Given the description of an element on the screen output the (x, y) to click on. 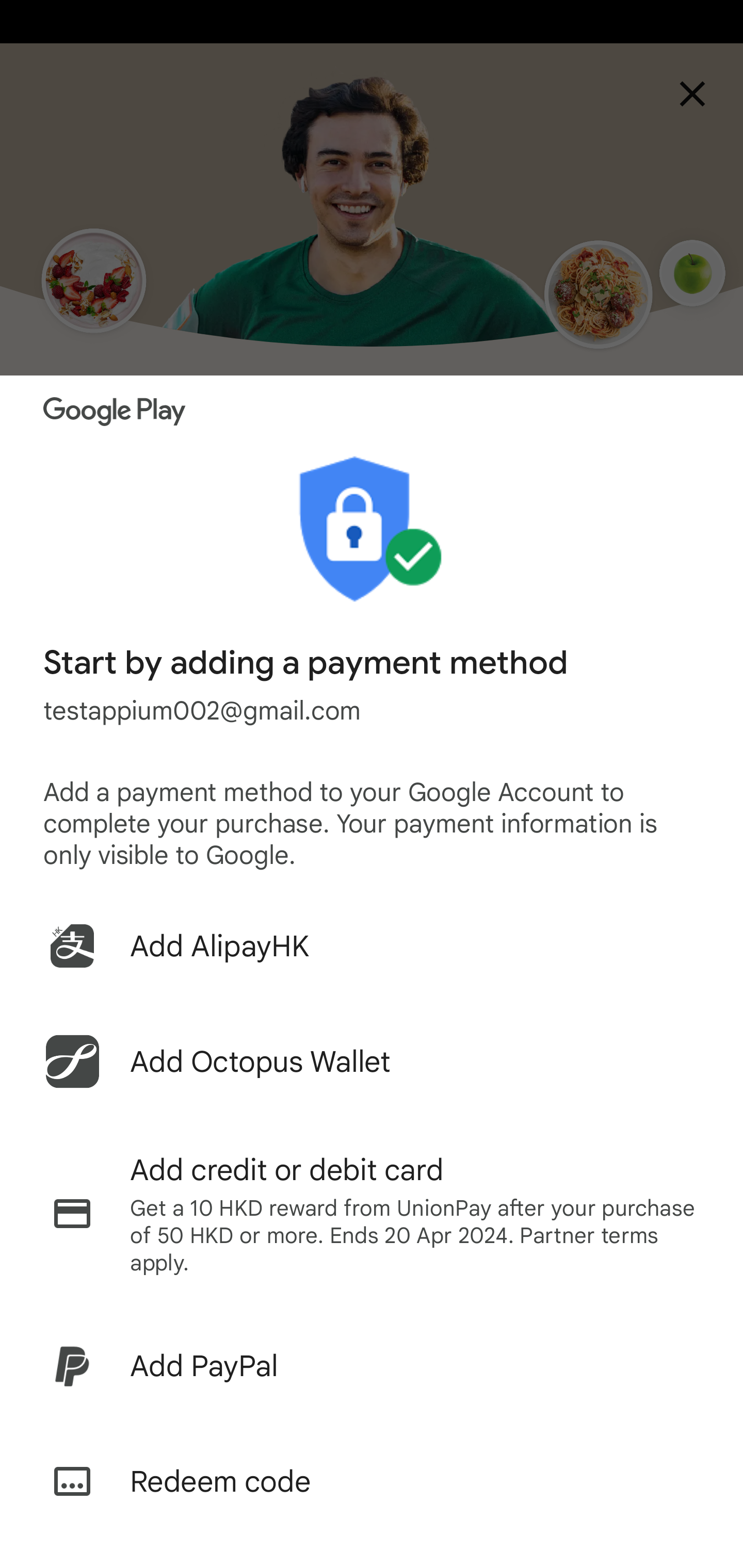
Add AlipayHK (371, 945)
Add Octopus Wallet (371, 1061)
Add PayPal (371, 1365)
Redeem code (371, 1481)
